Given the description of an element on the screen output the (x, y) to click on. 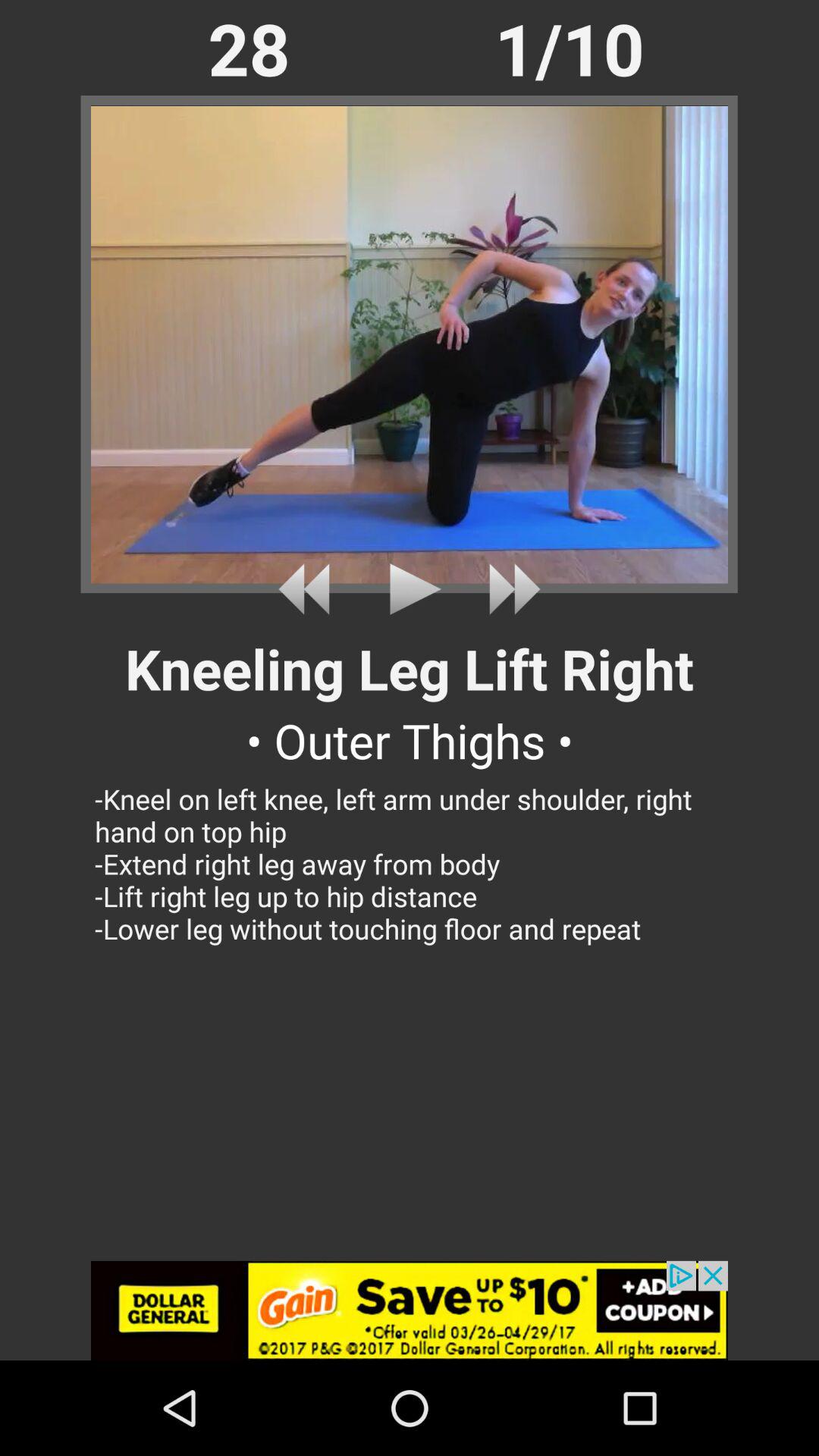
video fast forward (508, 589)
